Given the description of an element on the screen output the (x, y) to click on. 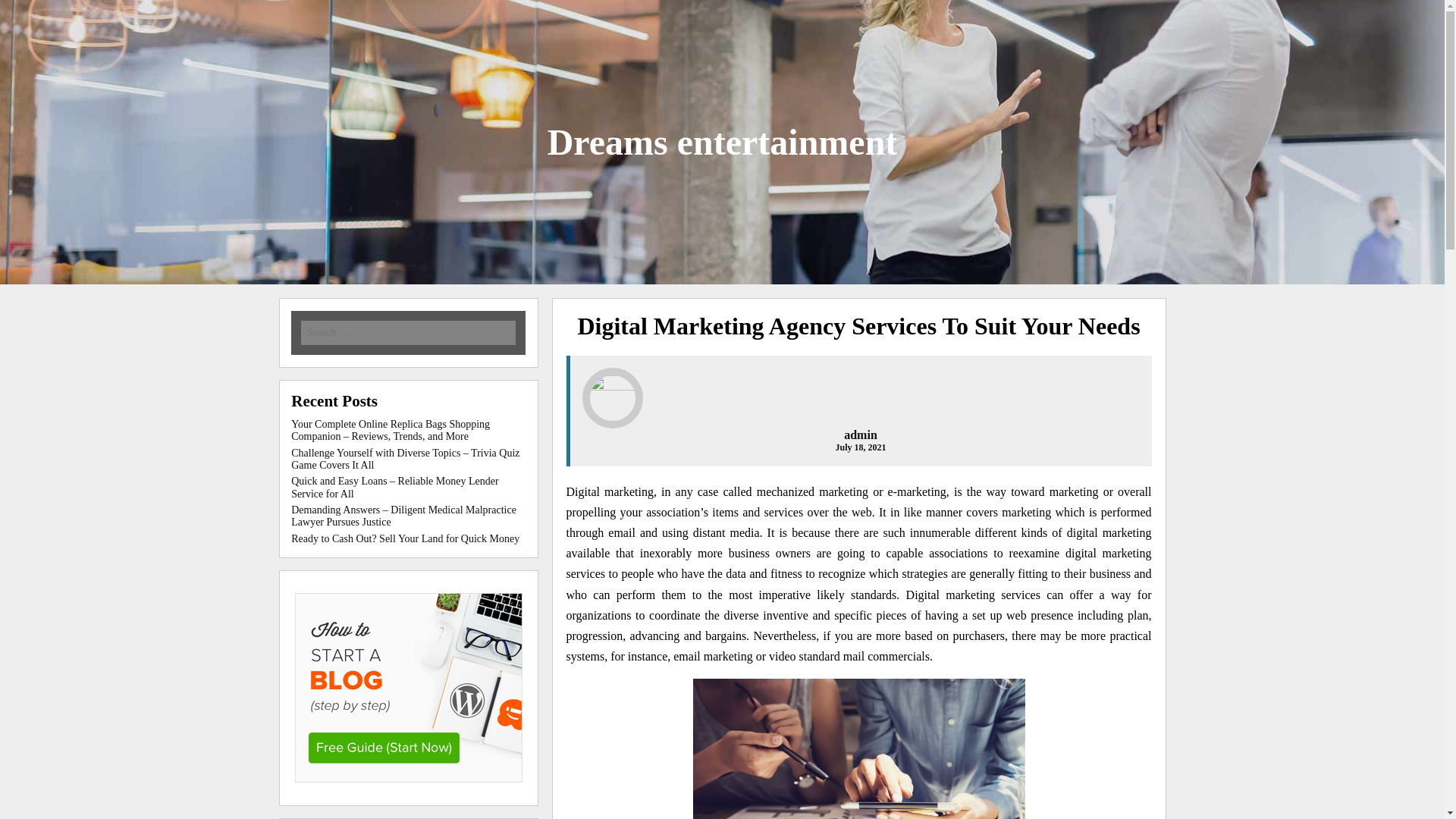
July 18, 2021 (859, 447)
Search (216, 11)
Ready to Cash Out? Sell Your Land for Quick Money (405, 538)
admin (860, 434)
Dreams entertainment (722, 142)
5:56 am (859, 447)
View all posts by admin (860, 434)
